Given the description of an element on the screen output the (x, y) to click on. 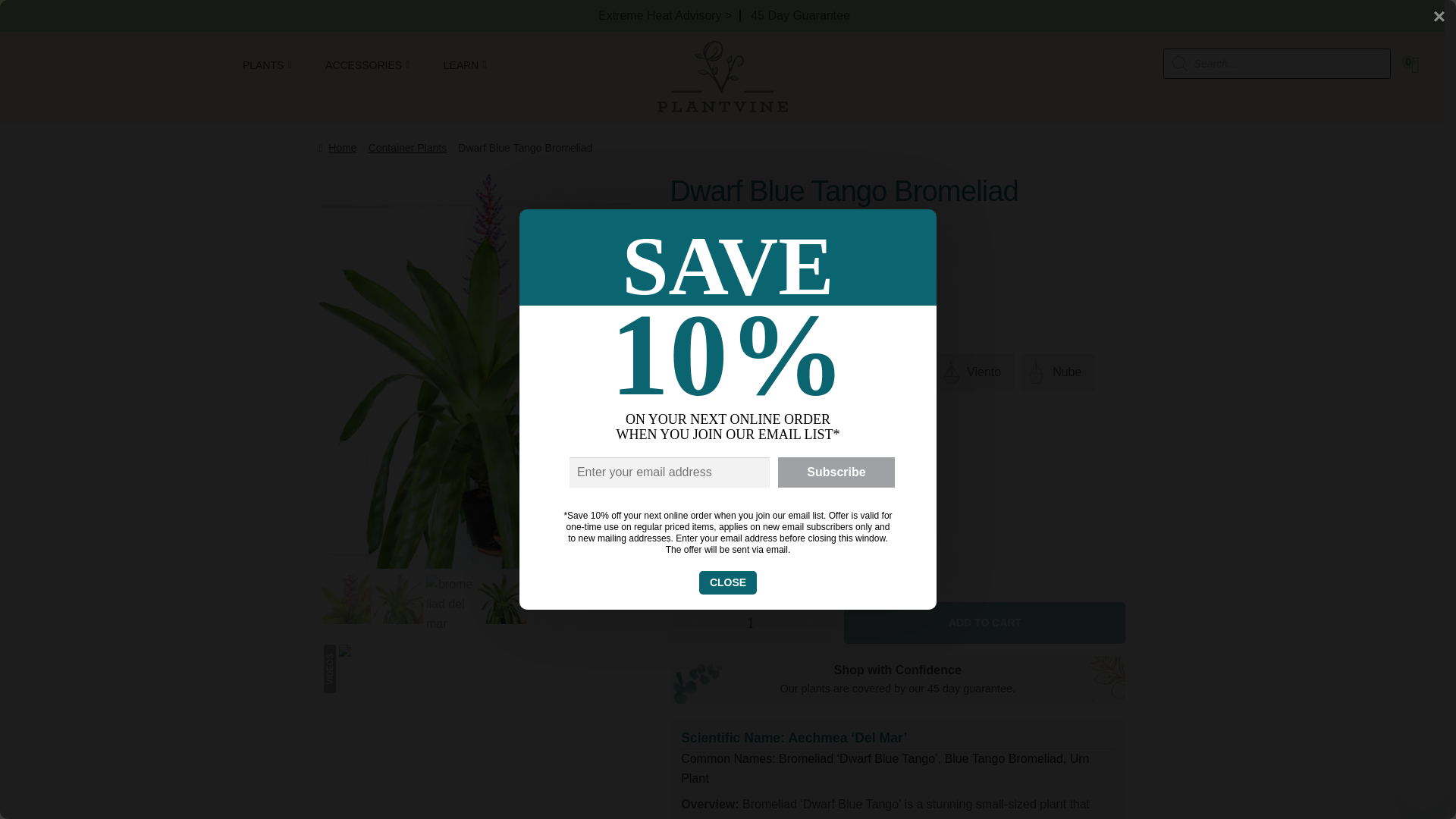
95848 (689, 572)
Subscribe (836, 472)
CLOSE (727, 582)
1 (750, 622)
39513 (689, 539)
35957 (689, 506)
Subscribe (836, 472)
